Given the description of an element on the screen output the (x, y) to click on. 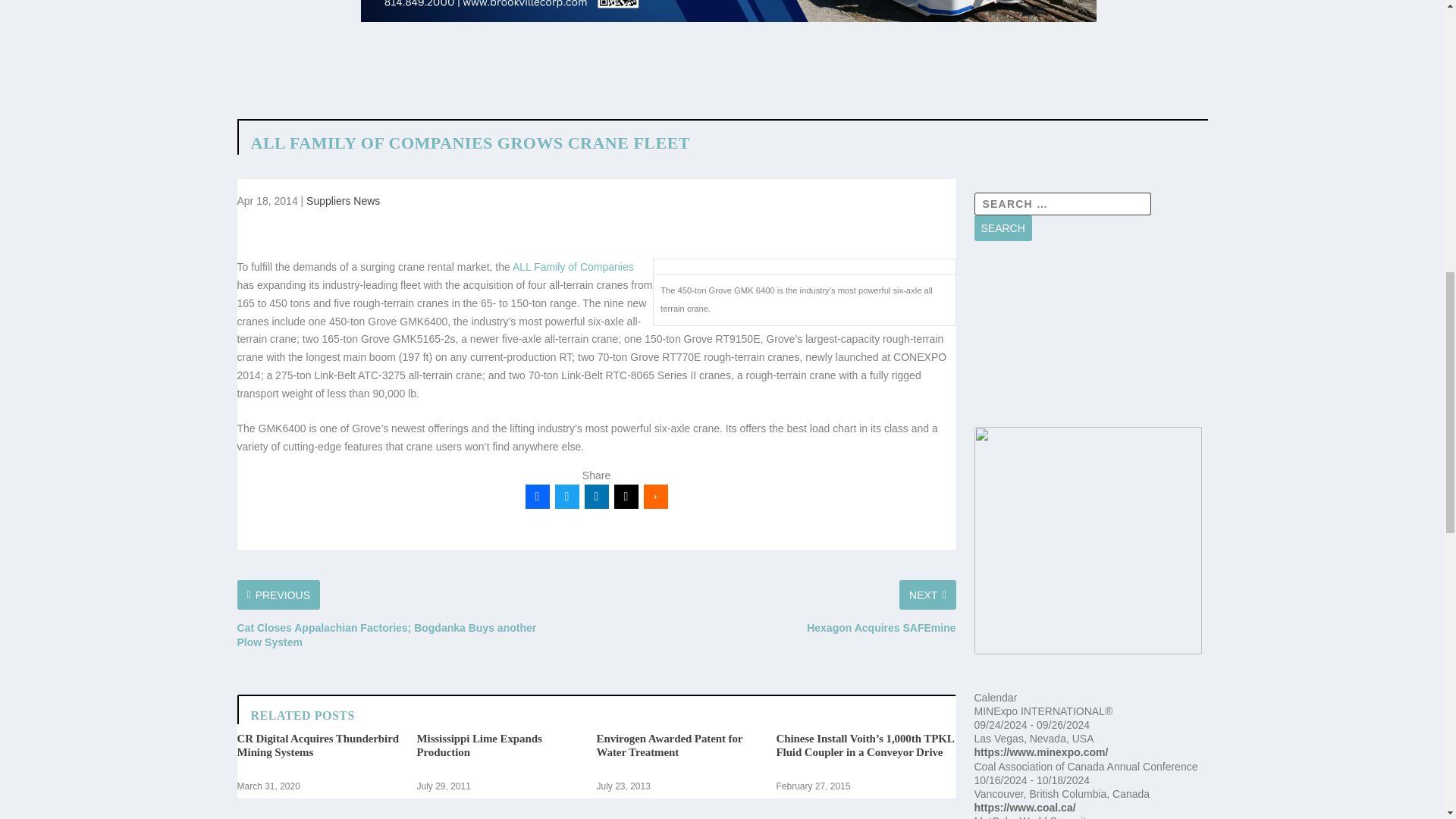
Add this to LinkedIn (595, 496)
More share links (654, 496)
Share this on Facebook (536, 496)
Envirogen Awarded Patent for Water Treatment (668, 745)
Mississippi Lime Expands Production (478, 745)
Search (1002, 227)
Search (1002, 227)
YouTube video player (1090, 342)
Tweet this ! (566, 496)
Email this  (626, 496)
CR Digital Acquires Thunderbird Mining Systems (316, 745)
ALL Family of Companies (572, 266)
Suppliers News (342, 200)
